Given the description of an element on the screen output the (x, y) to click on. 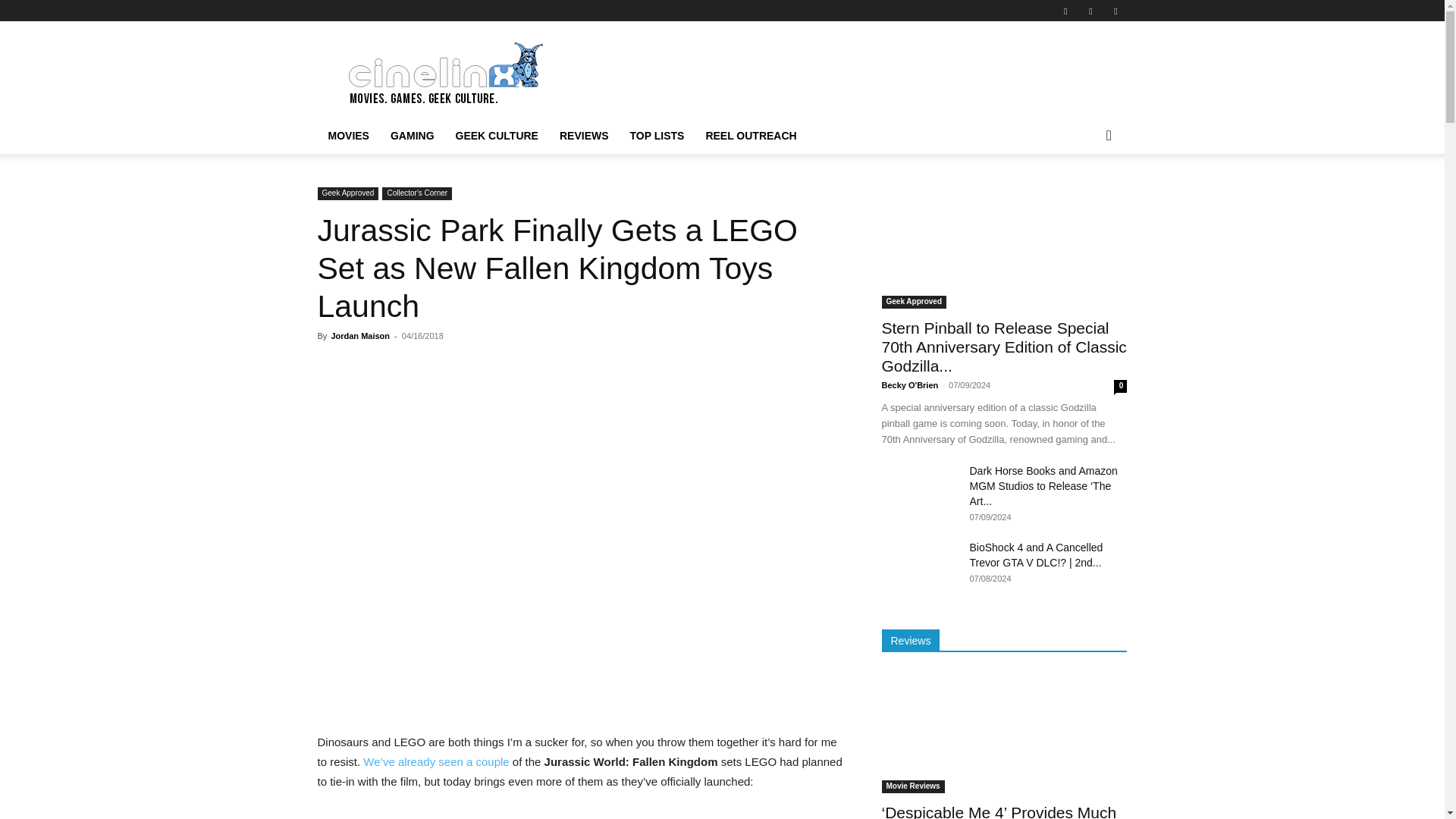
GEEK CULTURE (496, 135)
Twitter (1090, 10)
GAMING (412, 135)
Facebook (1065, 10)
MOVIES (347, 135)
REVIEWS (584, 135)
Youtube (1114, 10)
